Given the description of an element on the screen output the (x, y) to click on. 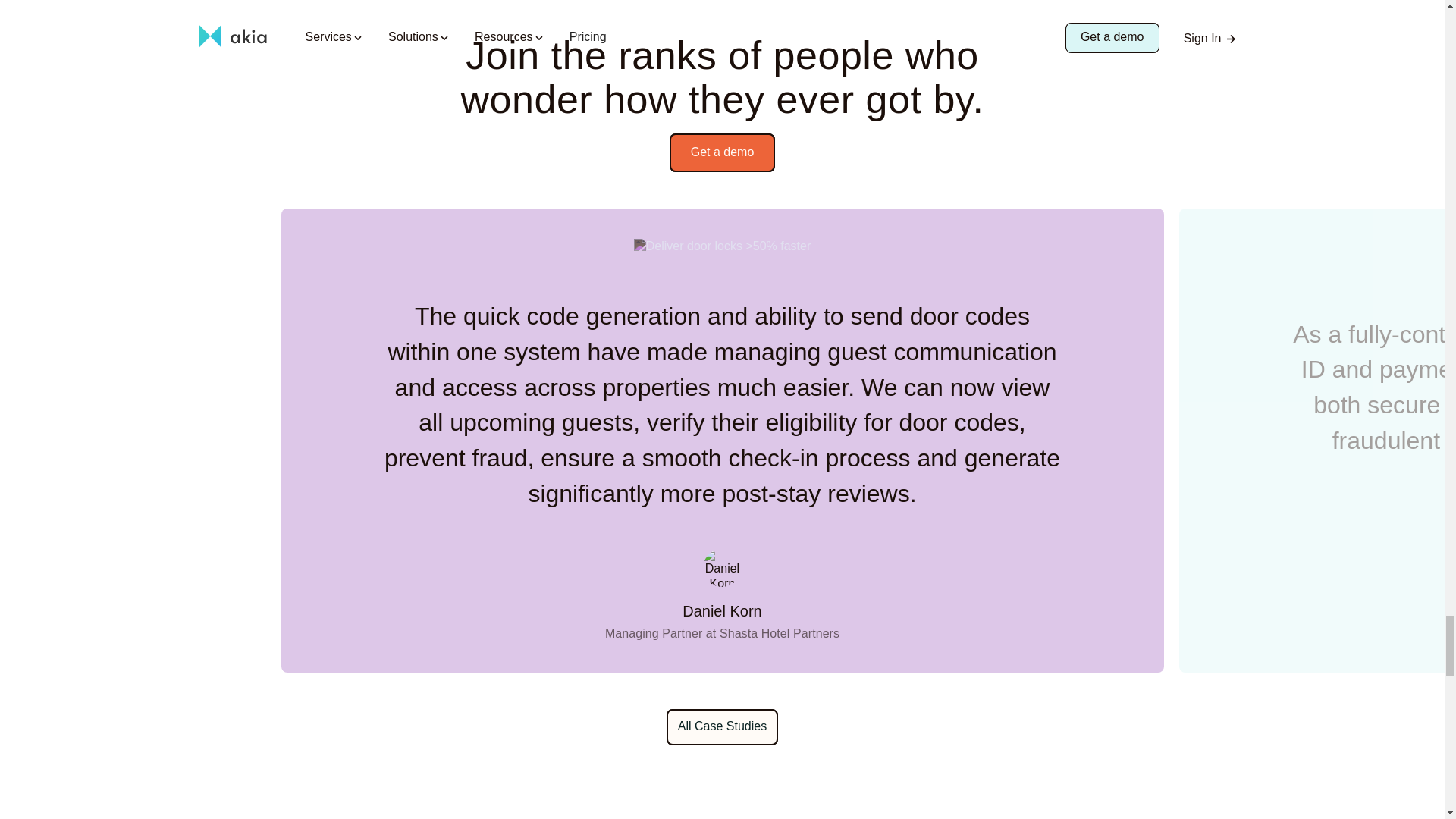
Get a demo (722, 152)
All Case Studies (721, 726)
